Given the description of an element on the screen output the (x, y) to click on. 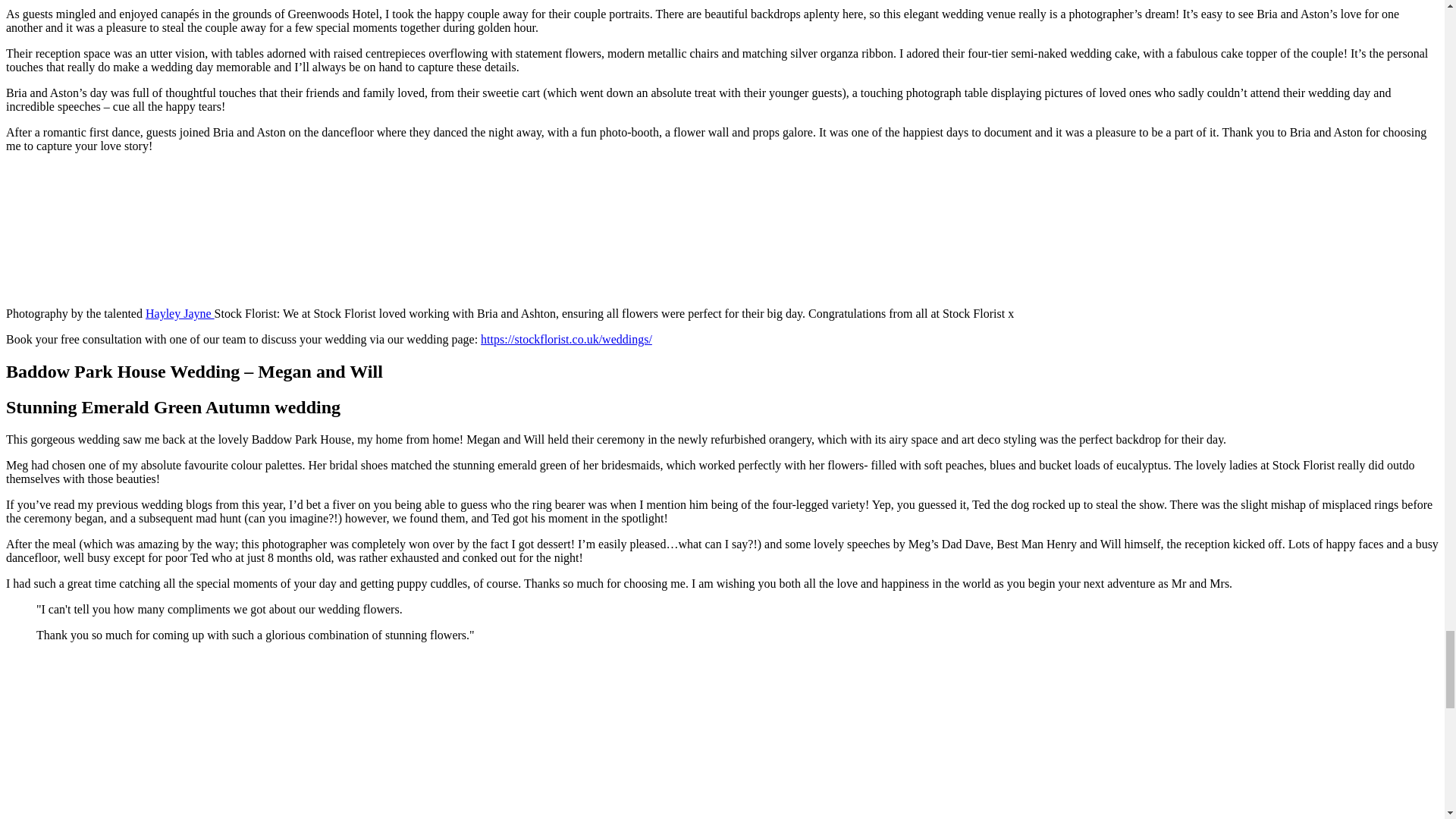
Hayley Jayne (179, 313)
